Given the description of an element on the screen output the (x, y) to click on. 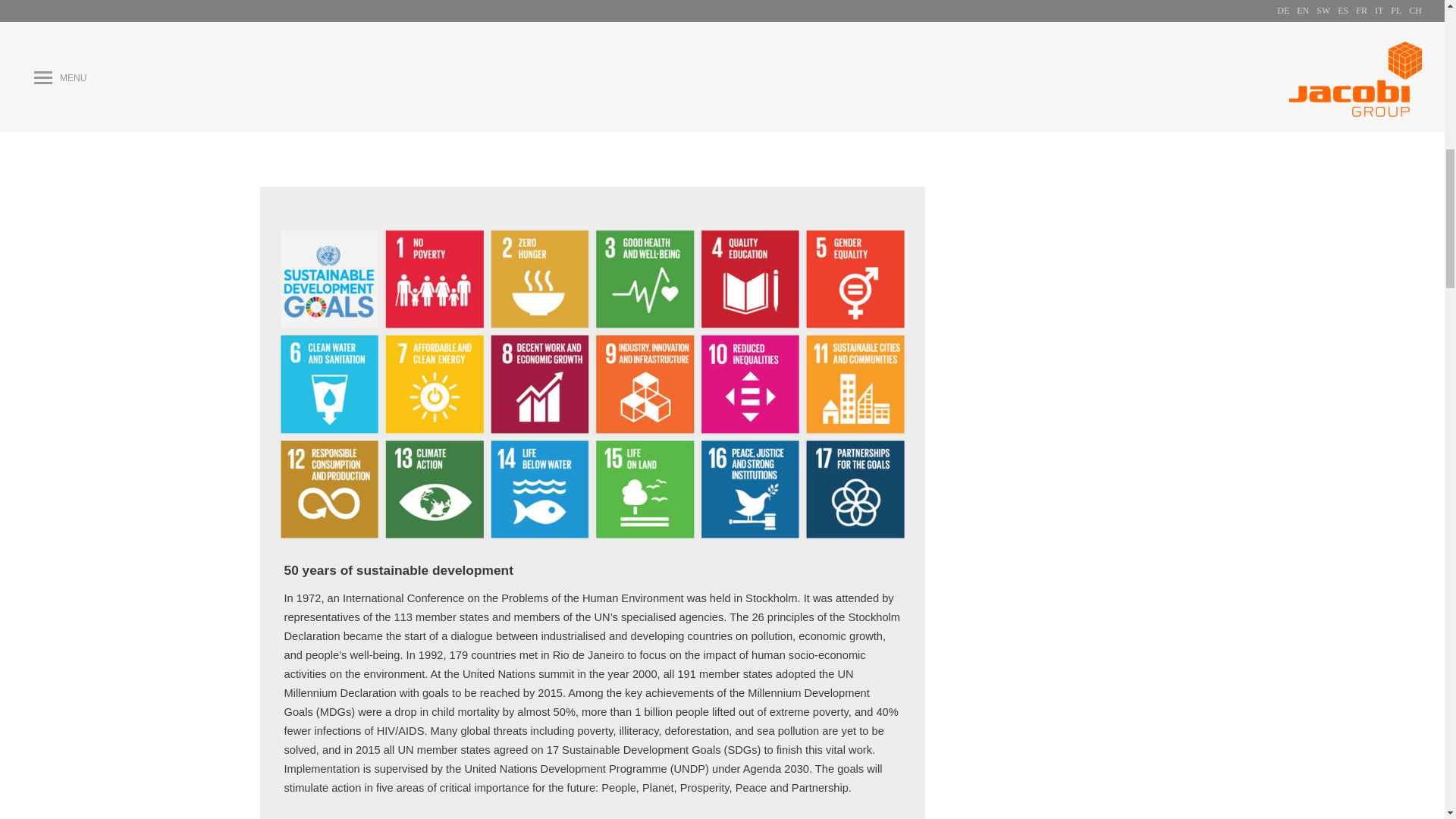
remko (312, 57)
